Given the description of an element on the screen output the (x, y) to click on. 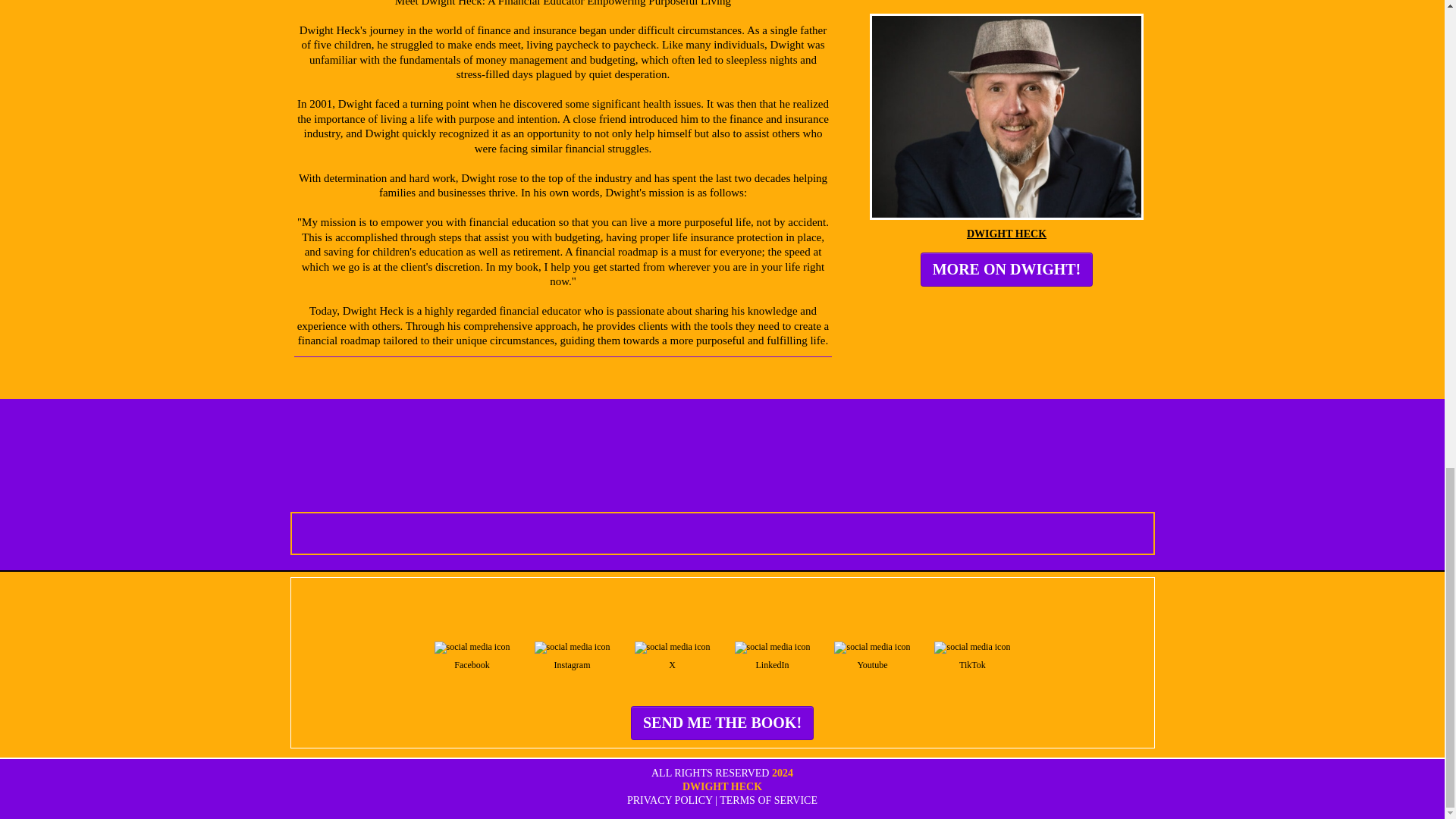
SEND ME THE BOOK! (721, 722)
TikTok (971, 656)
LinkedIn (772, 656)
Facebook (472, 656)
MORE ON DWIGHT! (1006, 269)
Instagram (572, 656)
Youtube (871, 656)
X (672, 656)
